Given the description of an element on the screen output the (x, y) to click on. 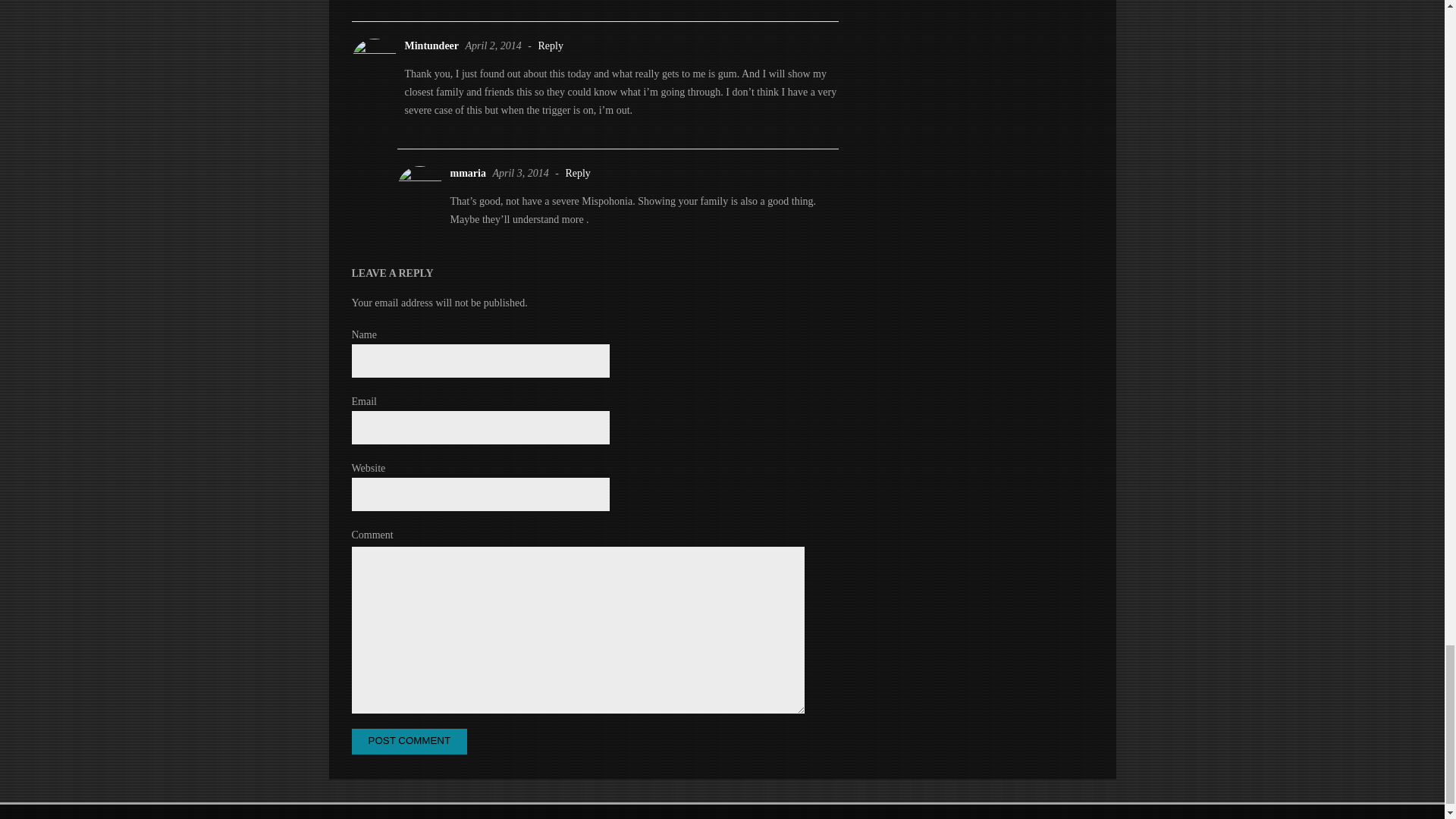
Post Comment (409, 741)
